Given the description of an element on the screen output the (x, y) to click on. 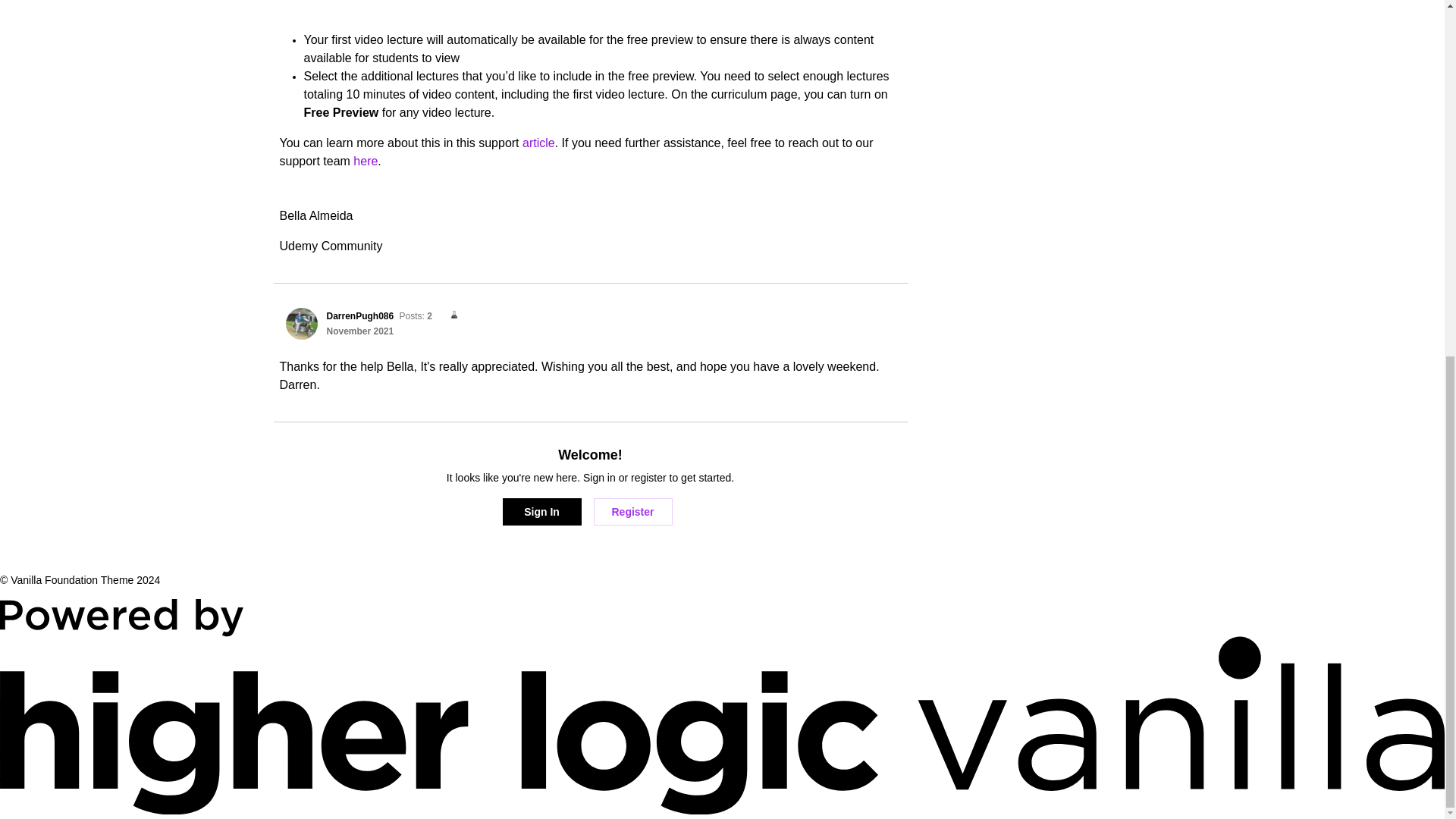
Sign In (541, 511)
Register (631, 511)
here (365, 160)
Sign In (541, 511)
Register (631, 511)
DarrenPugh086 (359, 316)
November 19, 2021 4:10PM (359, 330)
November 2021 (359, 330)
Researcher (449, 315)
DarrenPugh086 (301, 323)
